Given the description of an element on the screen output the (x, y) to click on. 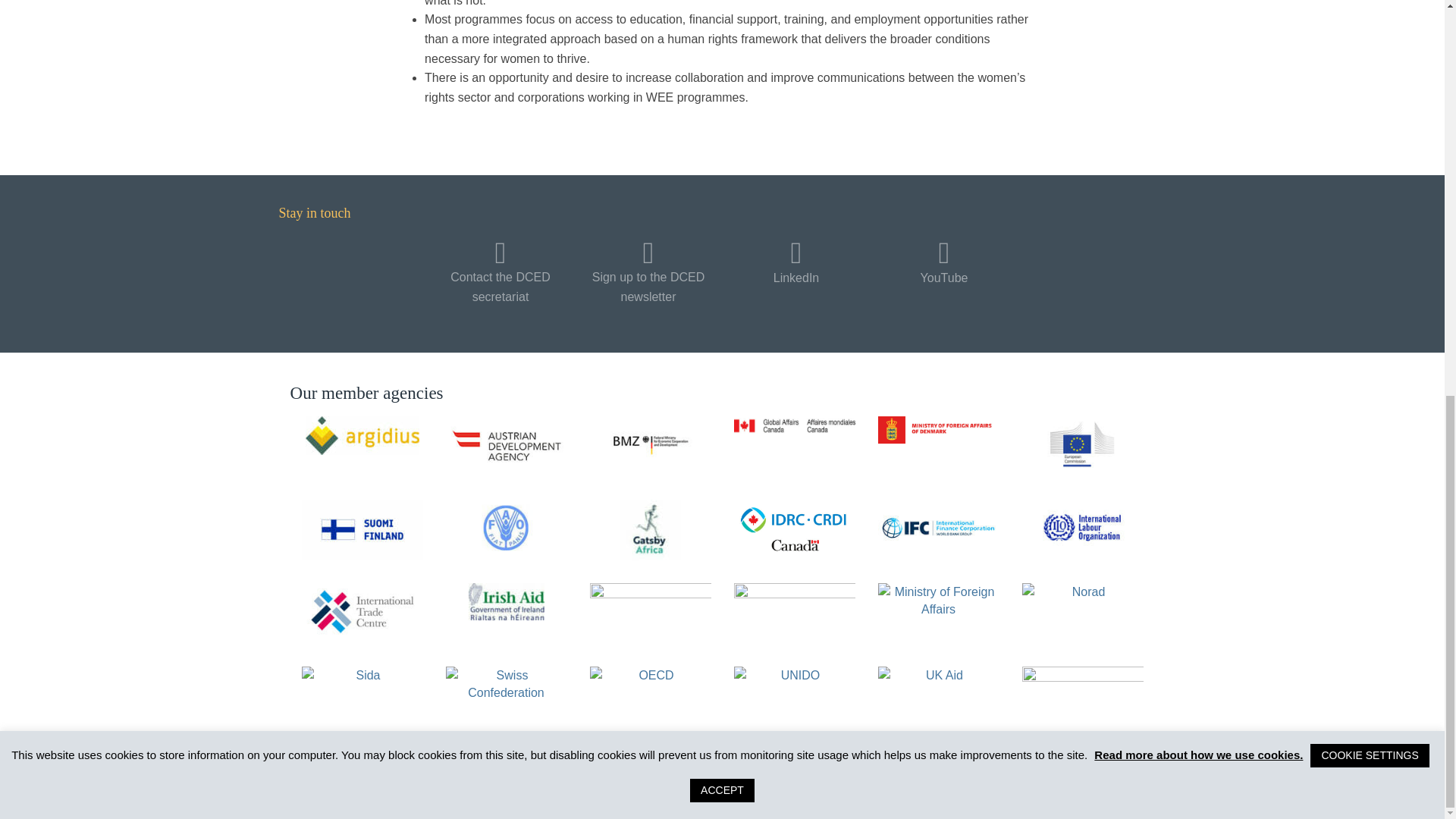
FAO (506, 528)
Luxembourg Aid and Development (794, 607)
Sida (362, 694)
Swiss Confederation (506, 694)
International Labour Organization (1082, 528)
International Finance Corporation (937, 528)
Argidius Foundation (362, 435)
Danida (937, 429)
Irish Aid (506, 601)
Ministry of Foreign Affairs (937, 607)
Global Affairs Canada (794, 425)
Austrian Development Agency (506, 445)
Ministry for Foreign Affairs of Finland (362, 529)
Norad (1082, 611)
IDRC (794, 529)
